Given the description of an element on the screen output the (x, y) to click on. 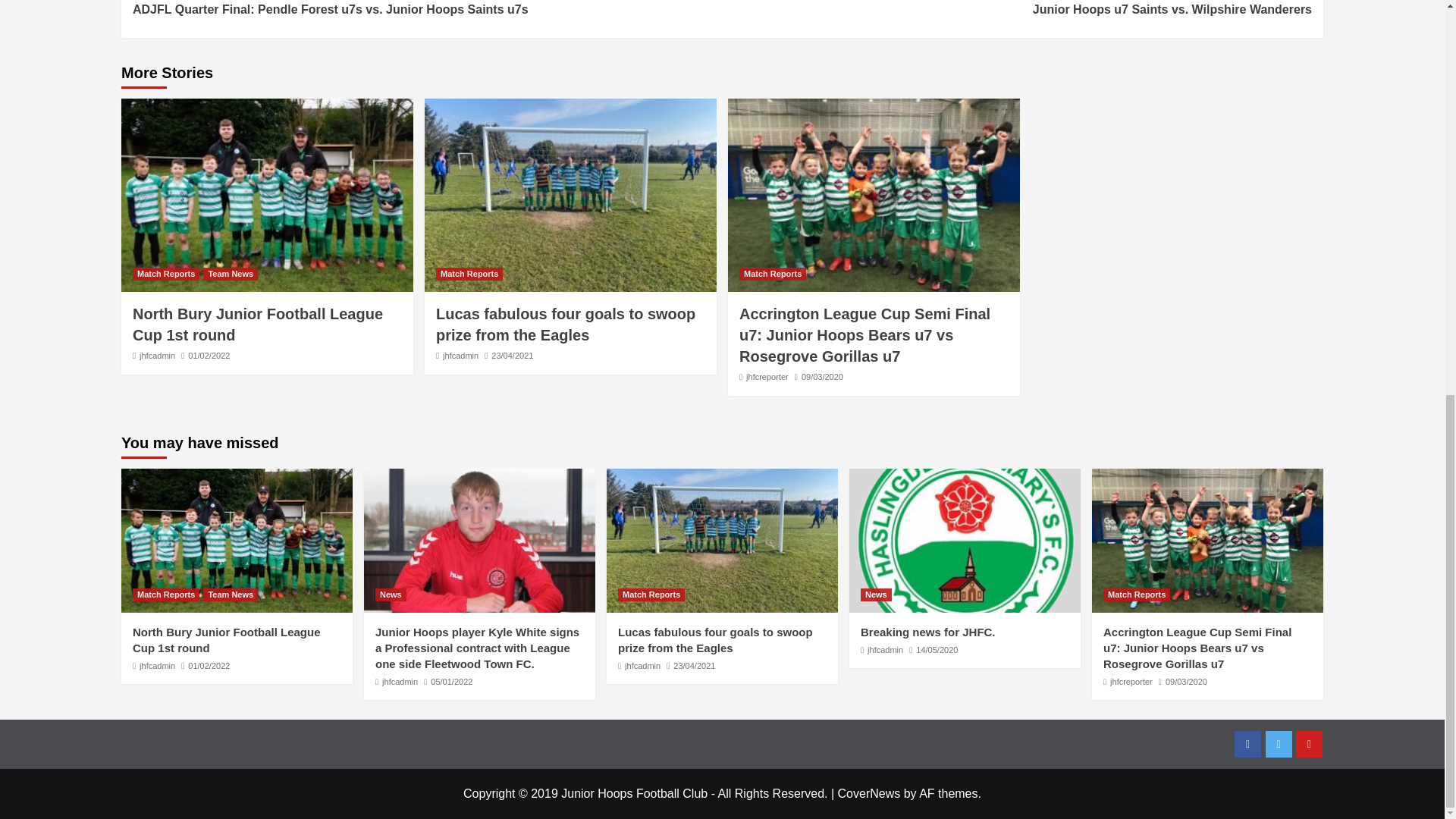
North Bury Junior Football League Cup 1st round (257, 324)
Team News (230, 273)
jhfcadmin (1016, 9)
Match Reports (156, 355)
